Given the description of an element on the screen output the (x, y) to click on. 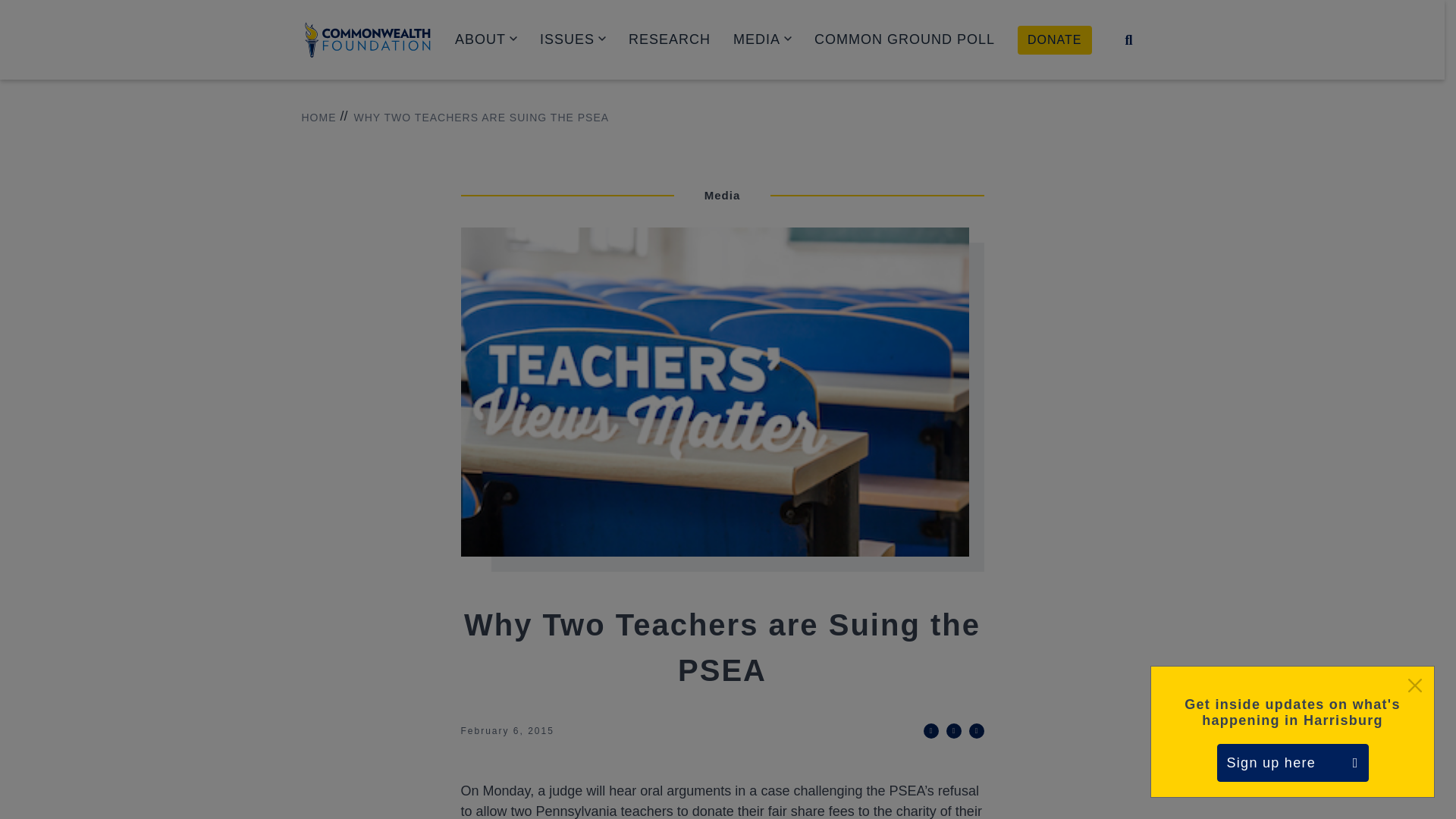
Twitter (931, 730)
WHY TWO TEACHERS ARE SUING THE PSEA (473, 117)
Email (976, 730)
HOME (318, 117)
MEDIA (762, 39)
COMMON GROUND POLL (903, 39)
ISSUES (572, 39)
DONATE (1053, 39)
Search (1128, 39)
RESEARCH (669, 39)
ABOUT (485, 39)
Commonwealth Foundation (366, 39)
LinkedIn (953, 730)
